Given the description of an element on the screen output the (x, y) to click on. 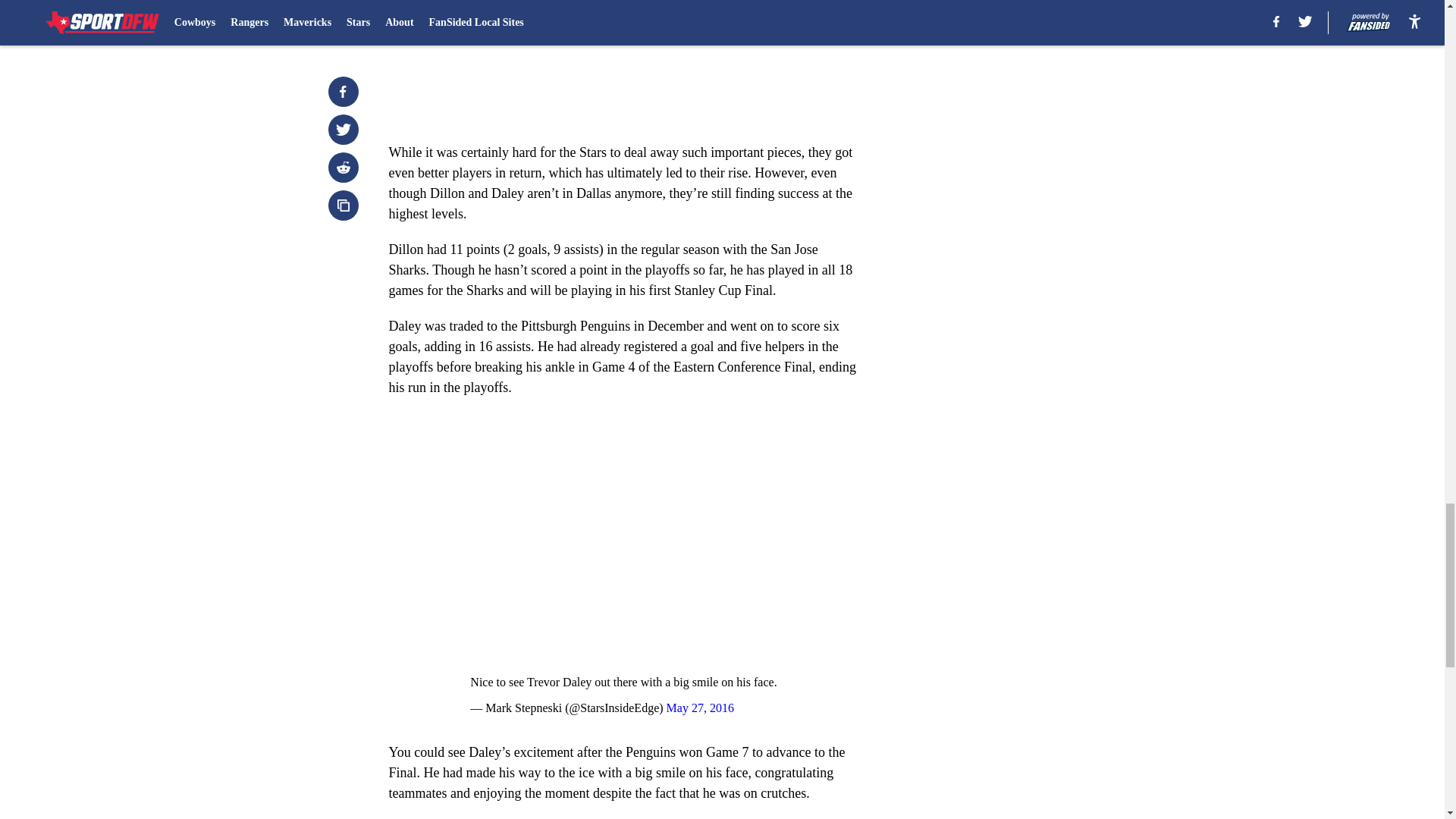
May 27, 2016 (699, 707)
